Given the description of an element on the screen output the (x, y) to click on. 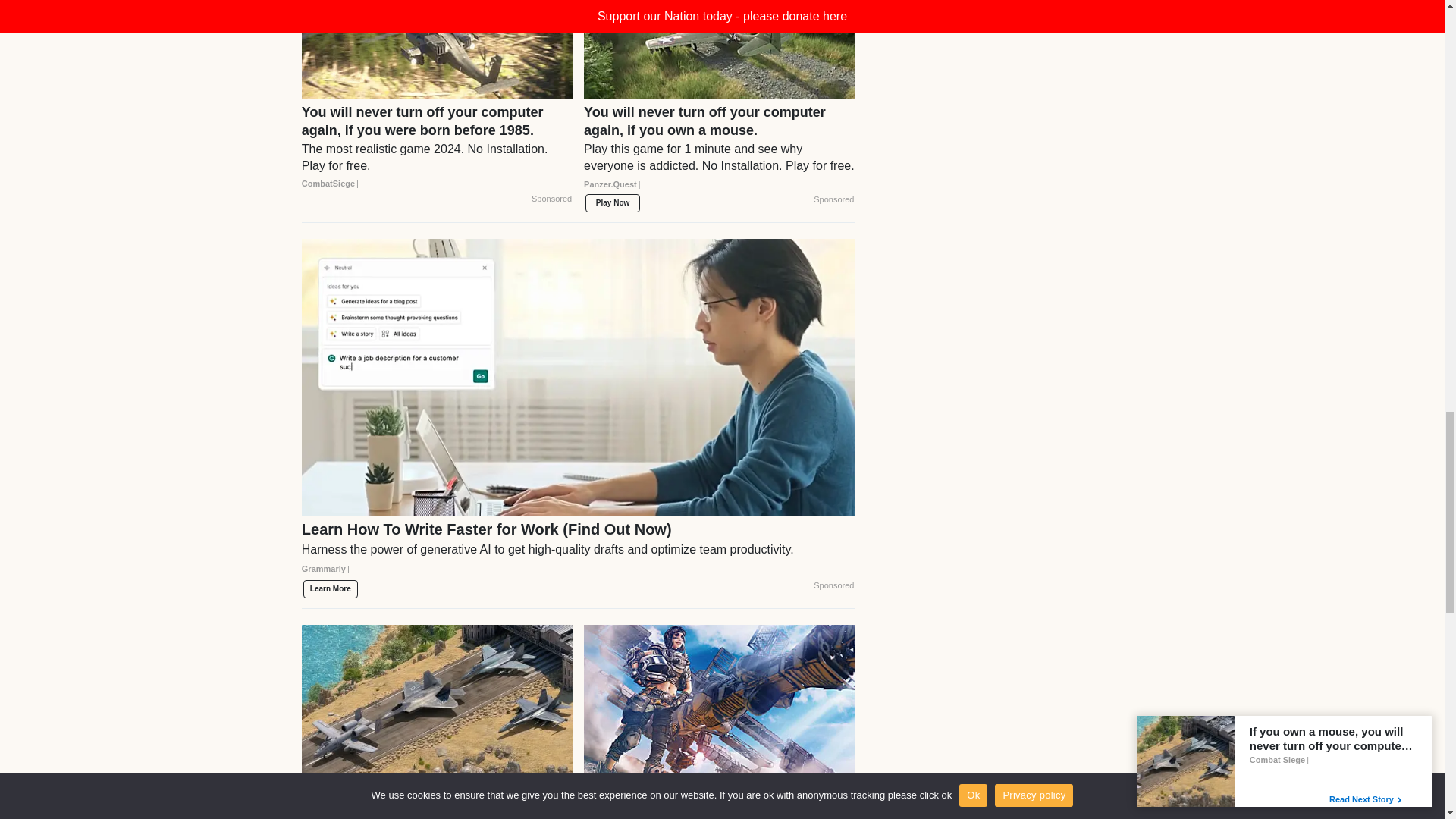
Sponsored (551, 199)
Play Now (612, 203)
Sponsored (833, 199)
